Given the description of an element on the screen output the (x, y) to click on. 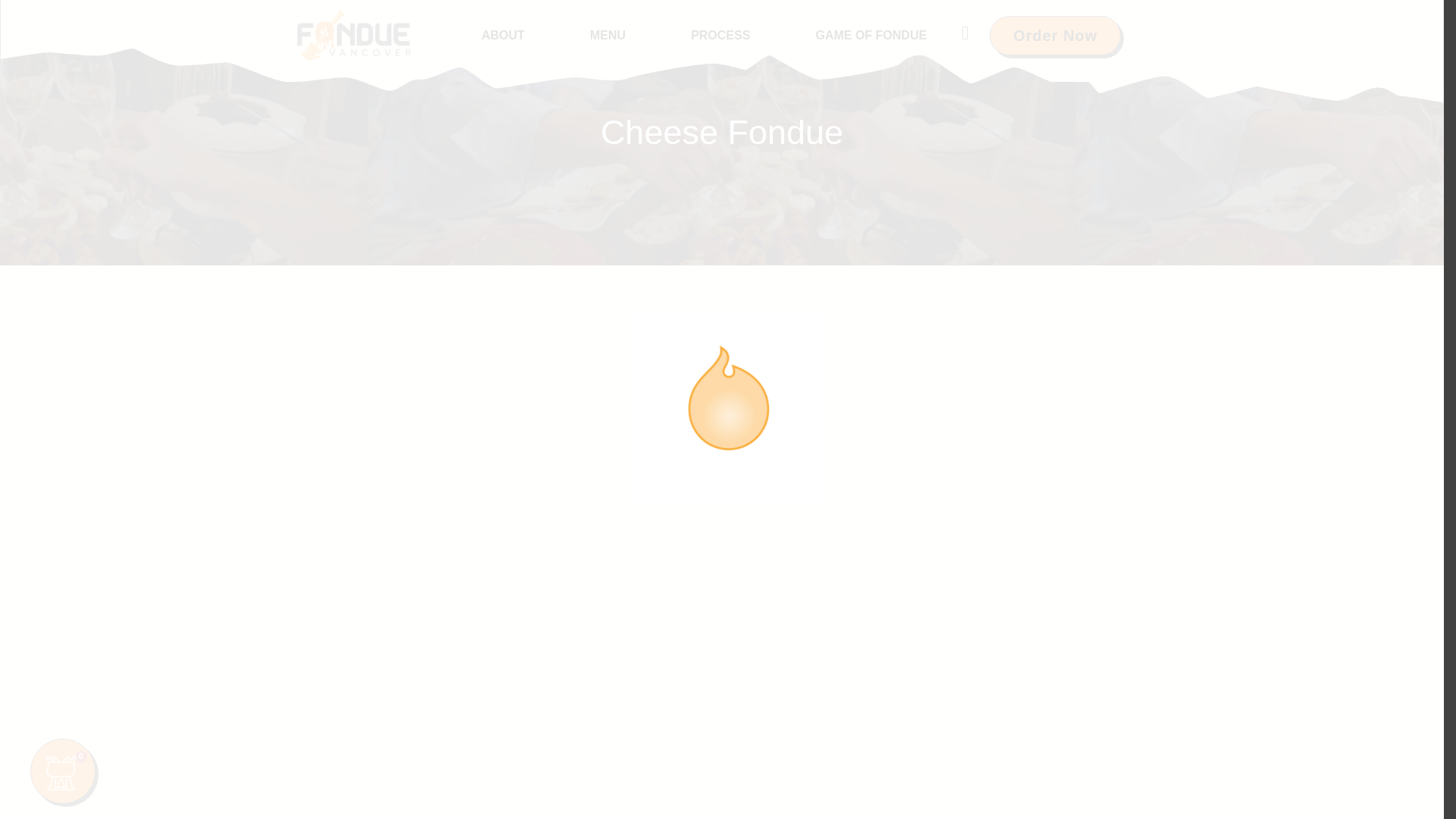
ABOUT (502, 35)
PROCESS (719, 35)
GAME OF FONDUE (871, 35)
0 (63, 770)
Order Now (1055, 35)
MENU (607, 35)
